Given the description of an element on the screen output the (x, y) to click on. 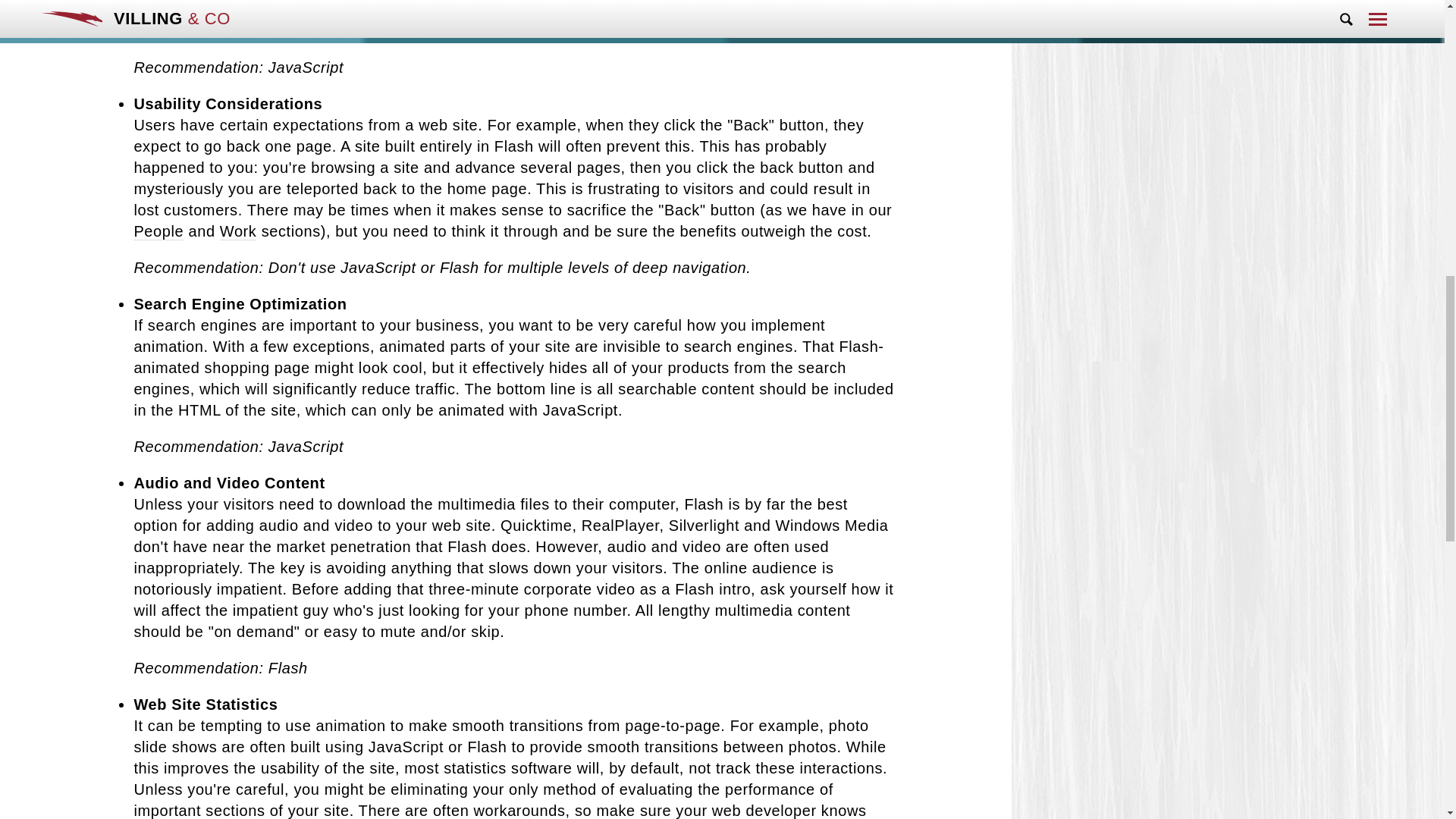
People (158, 231)
Work (238, 231)
People (158, 231)
Work (238, 231)
